Given the description of an element on the screen output the (x, y) to click on. 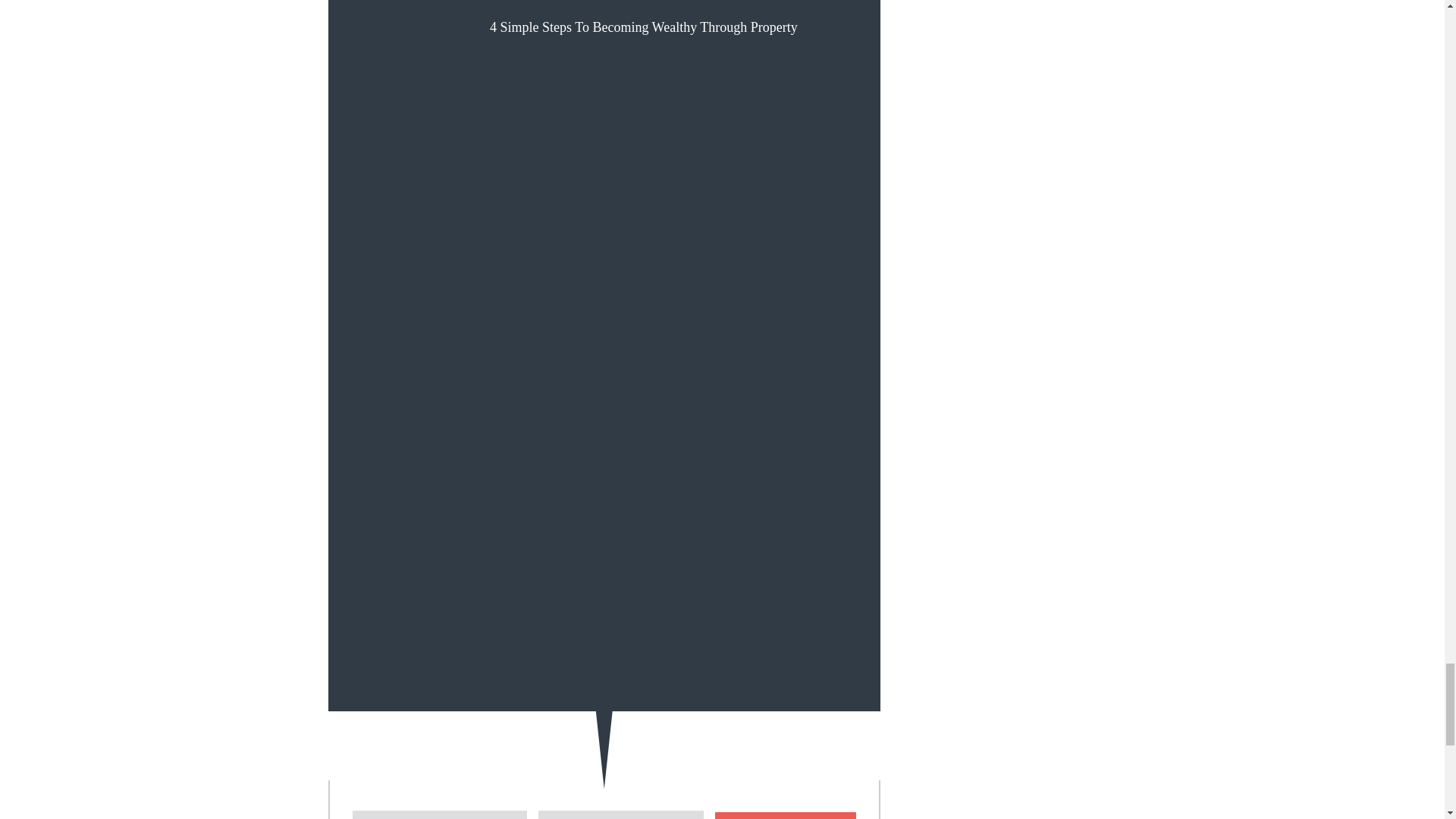
DOWNLOAD (785, 815)
